Given the description of an element on the screen output the (x, y) to click on. 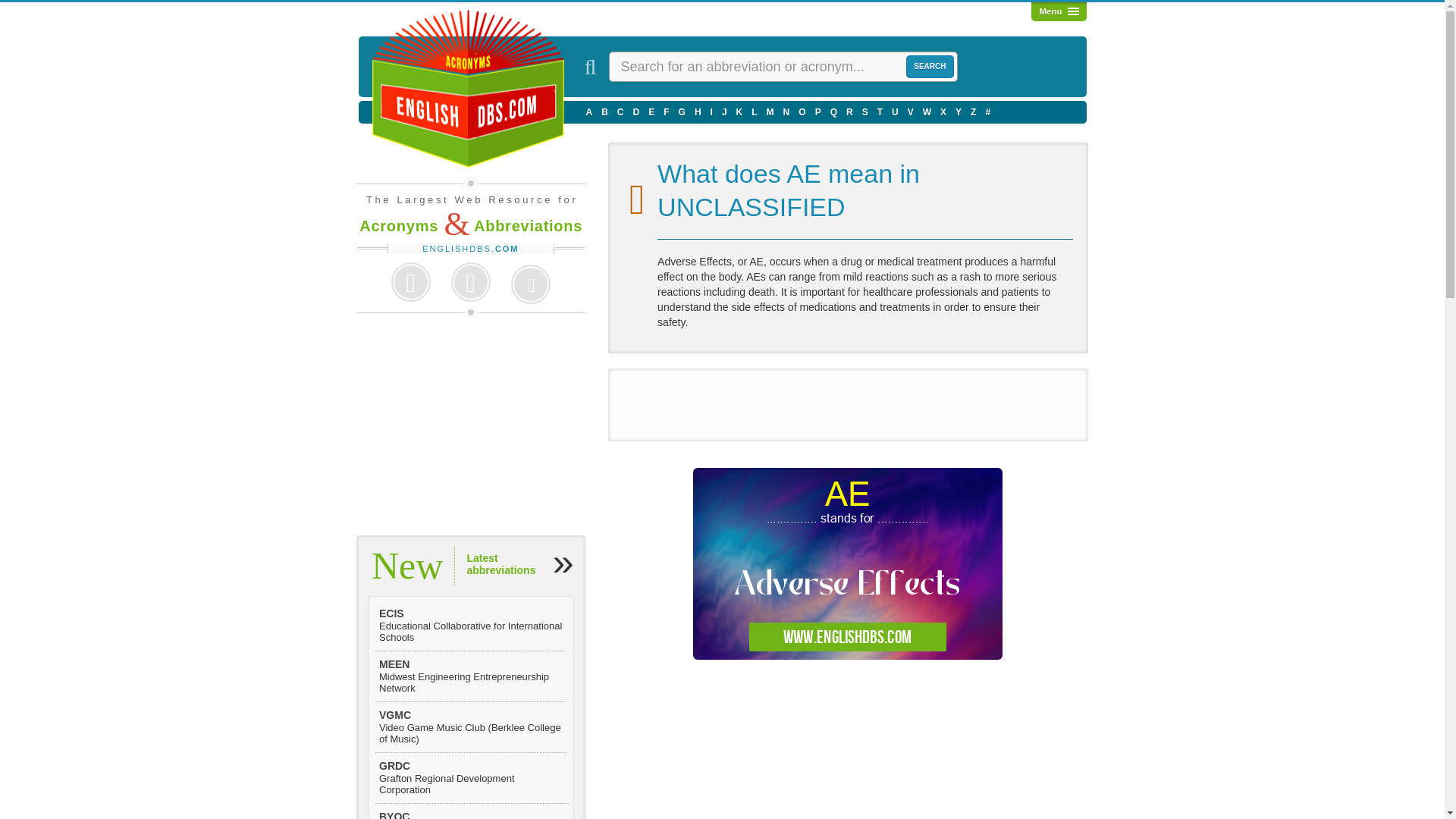
Facebook Page (410, 282)
W (926, 111)
AE means Adverse Effects (848, 563)
Share this page on Twitter (470, 282)
English DB's (464, 88)
SEARCH (929, 66)
